Given the description of an element on the screen output the (x, y) to click on. 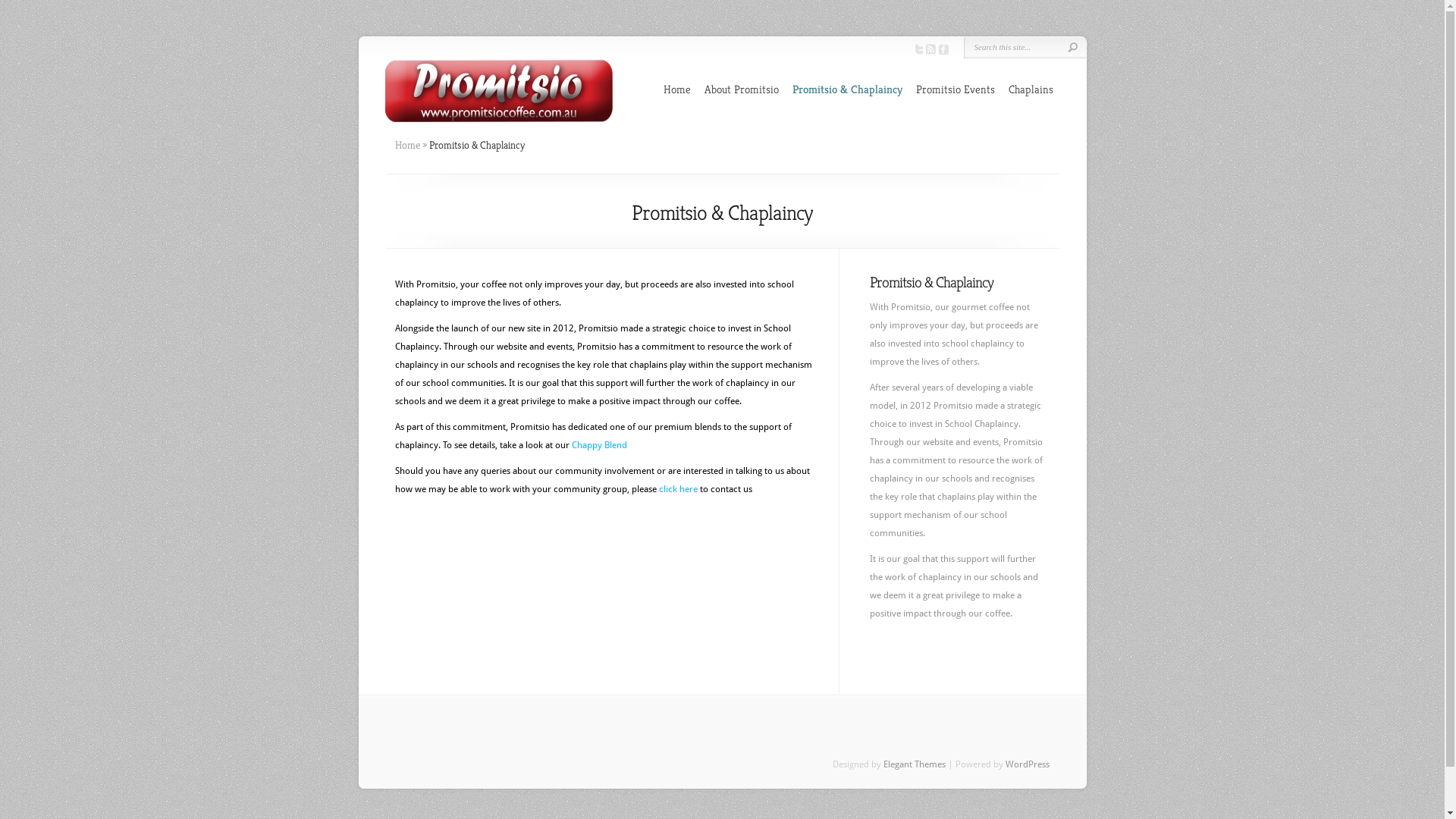
Home Element type: text (406, 144)
About Promitsio Element type: text (740, 89)
Chaplains Element type: text (1030, 89)
Promitsio & Chaplaincy Element type: text (846, 89)
Chappy Blend Element type: text (599, 444)
click here Element type: text (677, 488)
Home Element type: text (676, 89)
WordPress Element type: text (1027, 764)
Elegant Themes Element type: text (913, 764)
Promitsio Events Element type: text (955, 89)
